Given the description of an element on the screen output the (x, y) to click on. 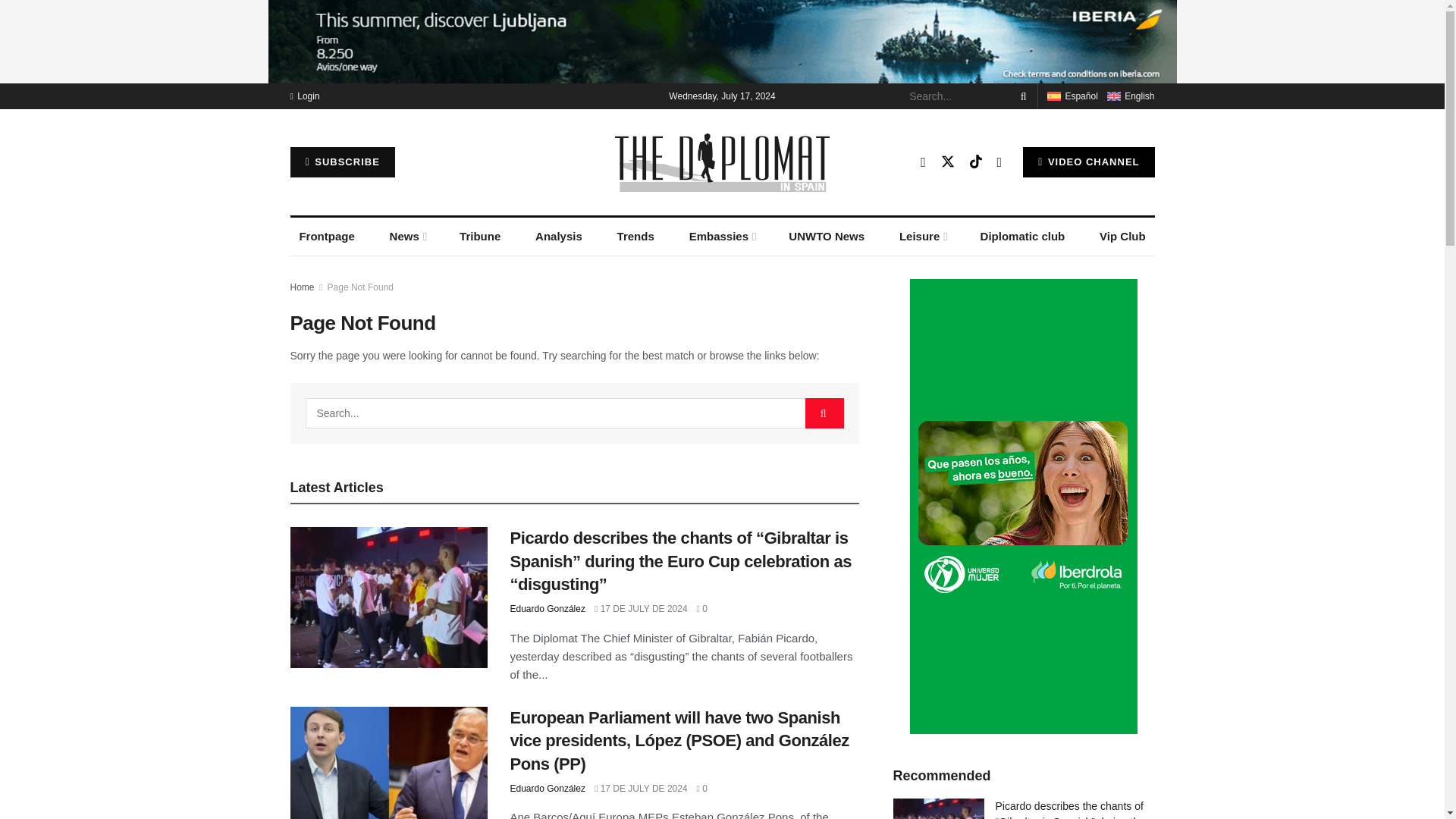
Login (303, 95)
VIDEO CHANNEL (1088, 162)
Embassies (720, 236)
Leisure (922, 236)
Frontpage (325, 236)
Tribune (479, 236)
Trends (635, 236)
SUBSCRIBE (341, 162)
English (1130, 95)
News (406, 236)
UNWTO News (825, 236)
English (1113, 95)
Analysis (558, 236)
